Given the description of an element on the screen output the (x, y) to click on. 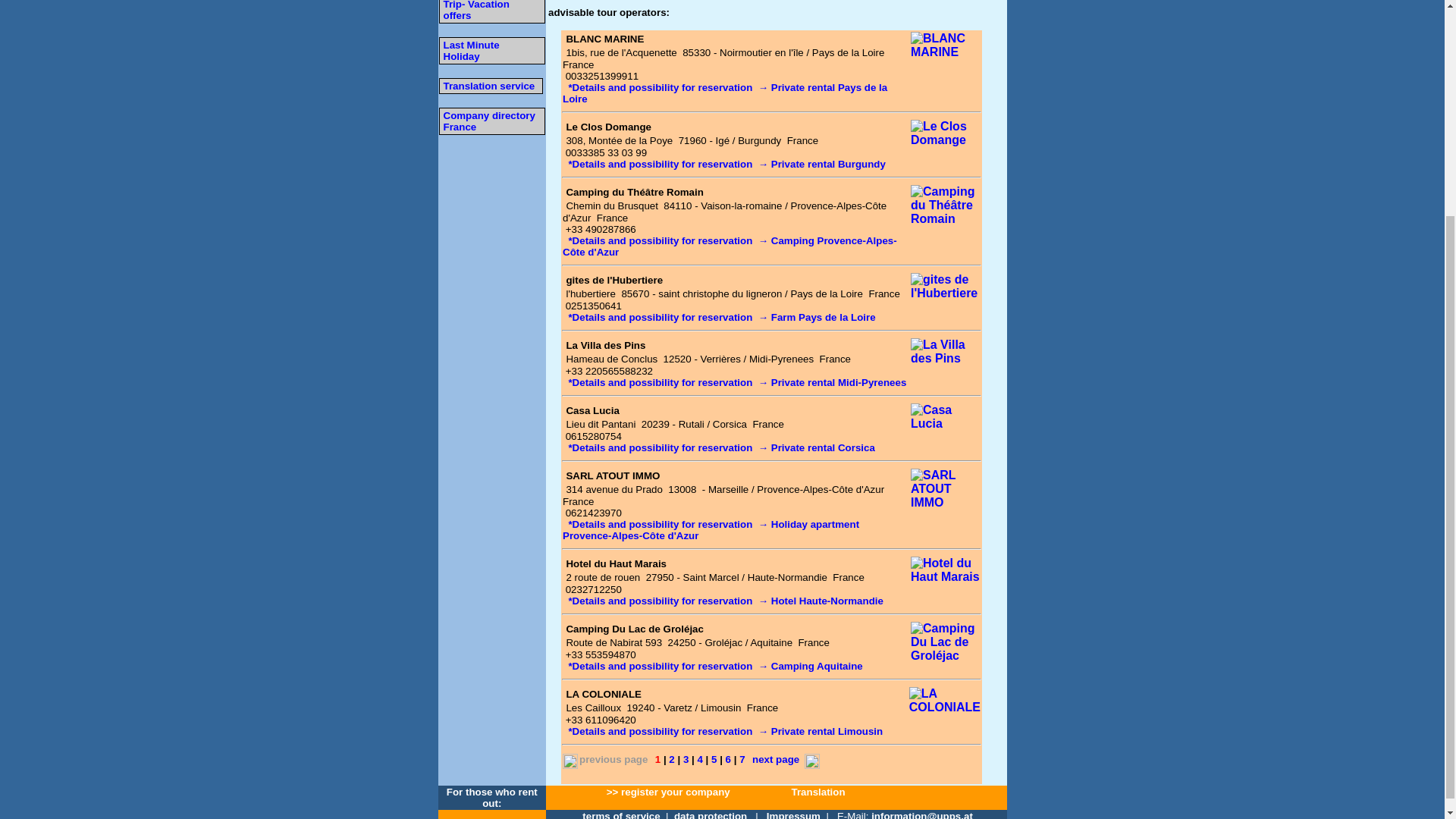
Company directory France (488, 120)
Trip- Vacation offers (475, 10)
Last Minute Holiday (470, 49)
La Villa des Pins (605, 345)
gites de l'Hubertiere (614, 279)
Translation service (488, 84)
Le Clos Domange (608, 126)
BLANC MARINE (604, 39)
